Given the description of an element on the screen output the (x, y) to click on. 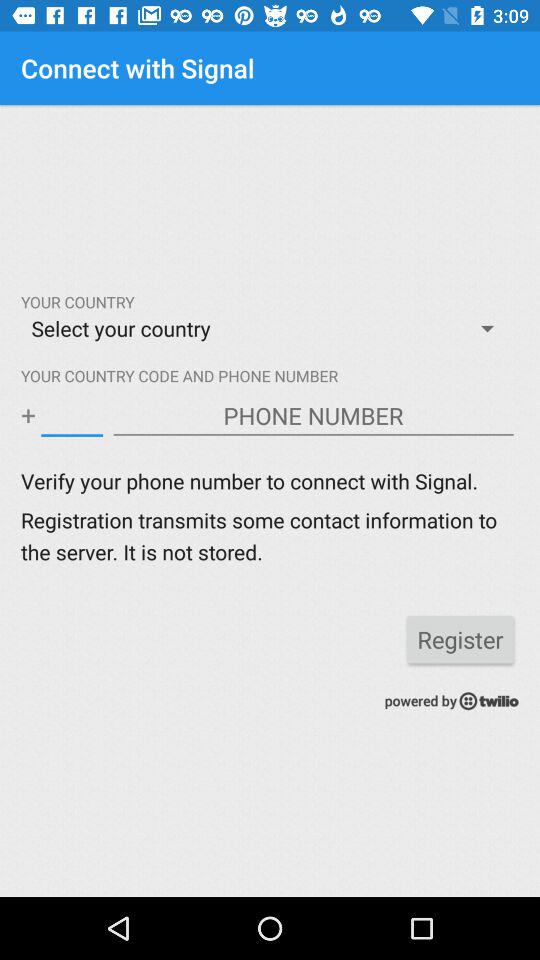
phone number box (313, 415)
